Given the description of an element on the screen output the (x, y) to click on. 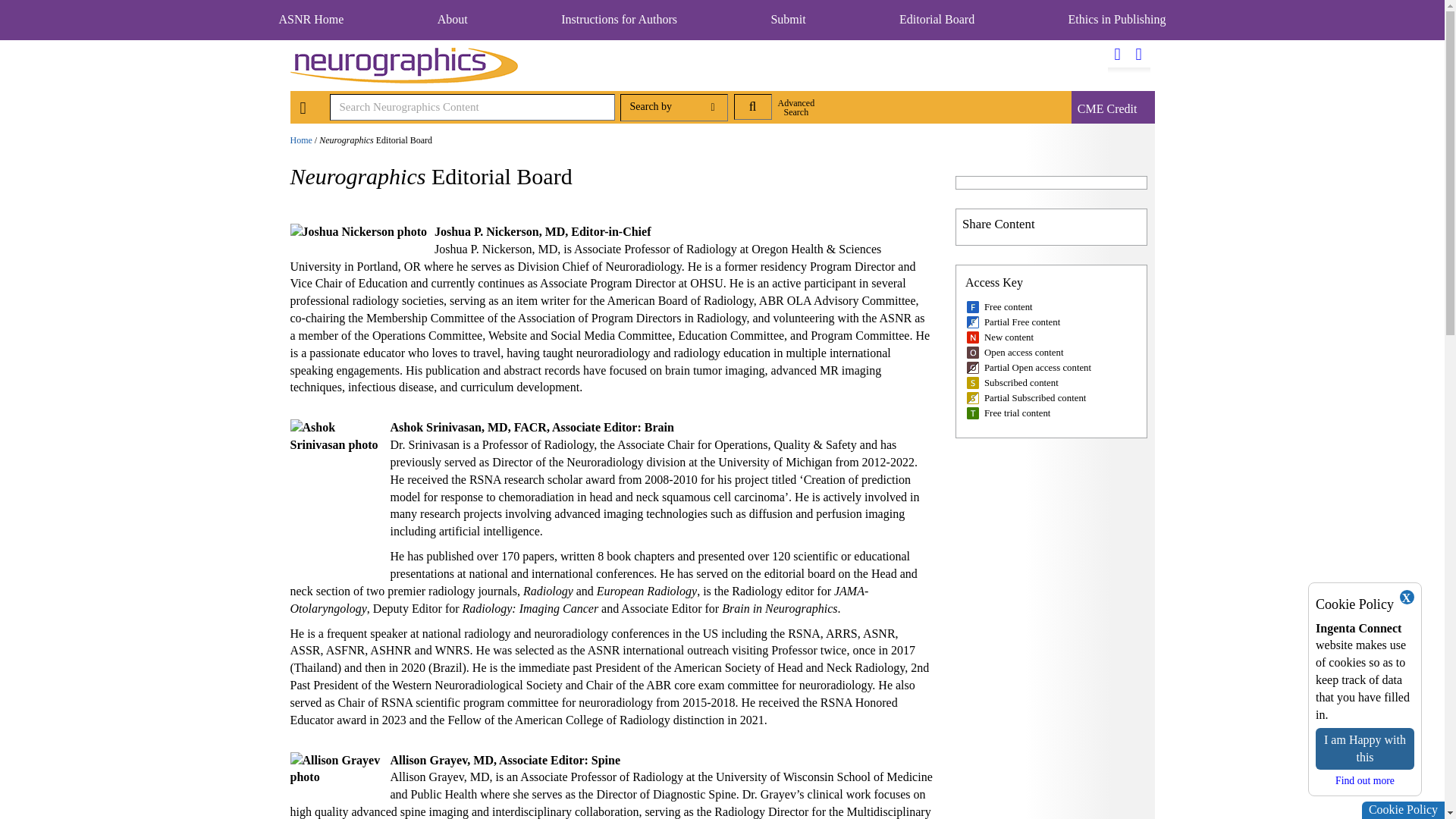
ASNR Home (311, 19)
Neurographics Submit (787, 19)
Submit (787, 19)
Follow us on twitter (1117, 54)
facebook (1139, 54)
American Society of Neuroradiology organisation website (311, 19)
I am Happy with this (1364, 749)
Ethics in Publishing (1117, 19)
OK. Now search! (752, 106)
Home (300, 140)
Search by (674, 107)
CME Credit (1106, 109)
Link to Ingenta Connect home page (303, 108)
Enter a term to search for (471, 107)
About site information (452, 19)
